Given the description of an element on the screen output the (x, y) to click on. 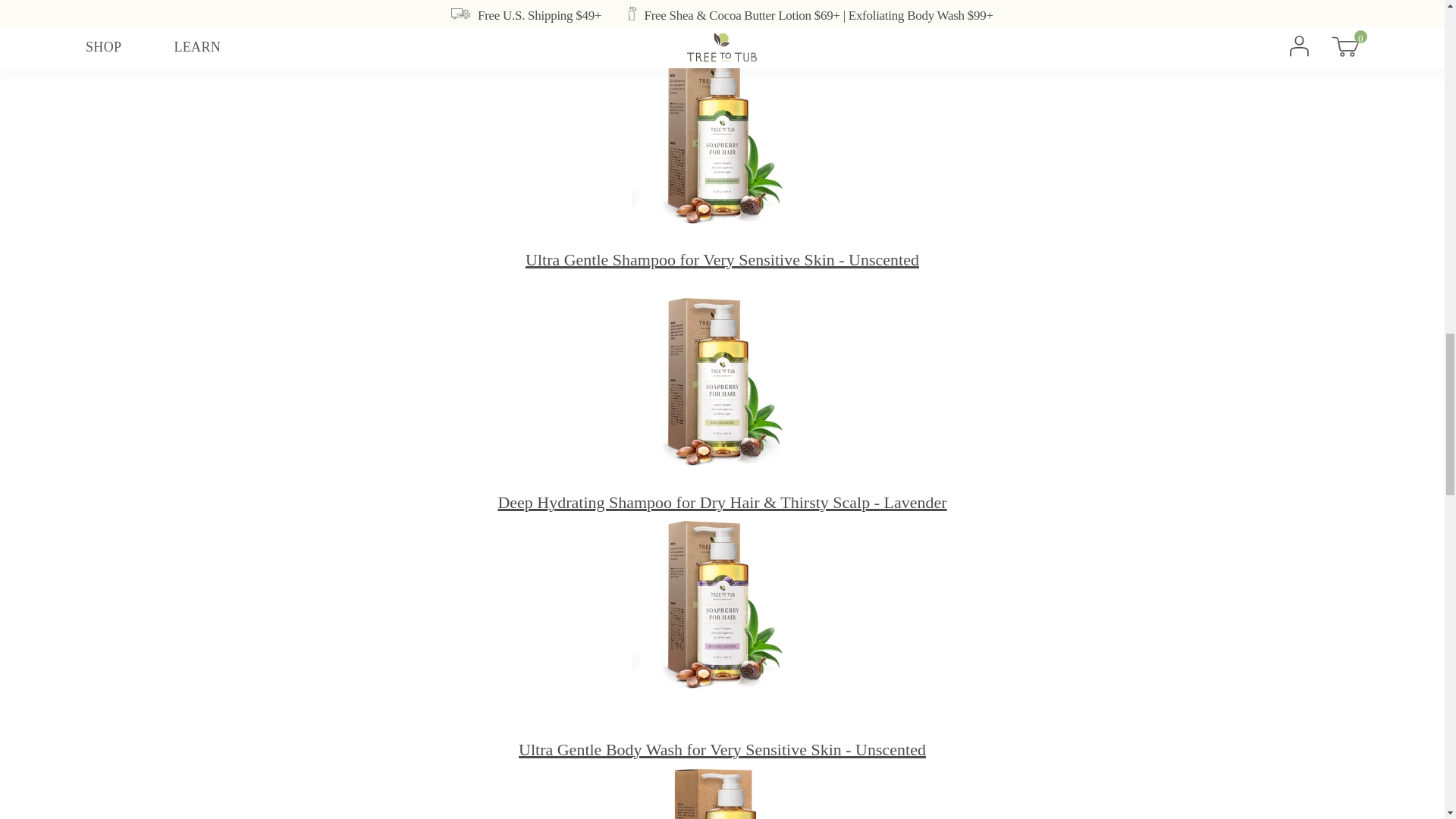
Unscented Shampoo Link (721, 382)
Ultra Gentle Body Wash for Very Sensitive Skin - Unscented (722, 750)
Ultra Gentle Shampoo for Very Sensitive Skin - Unscented (721, 260)
